Given the description of an element on the screen output the (x, y) to click on. 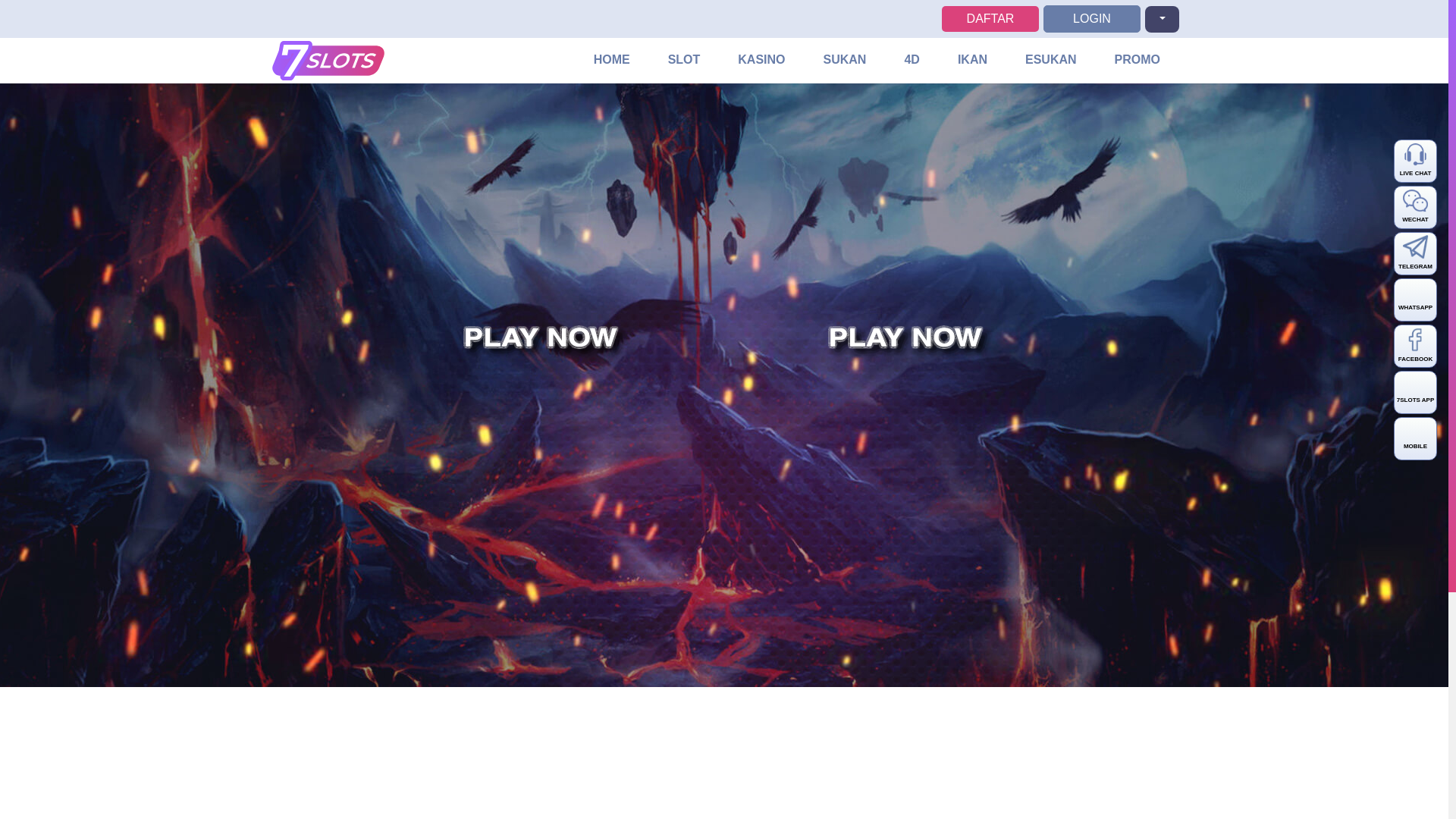
DAFTAR (990, 18)
WECHAT (1414, 207)
SLOT (684, 60)
TELEGRAM (1414, 253)
LOGIN (1091, 18)
HOME (612, 60)
7SLOTS APP (1414, 392)
LIVE CHAT (1414, 160)
FACEBOOK (1414, 345)
MOBILE (1414, 438)
